Given the description of an element on the screen output the (x, y) to click on. 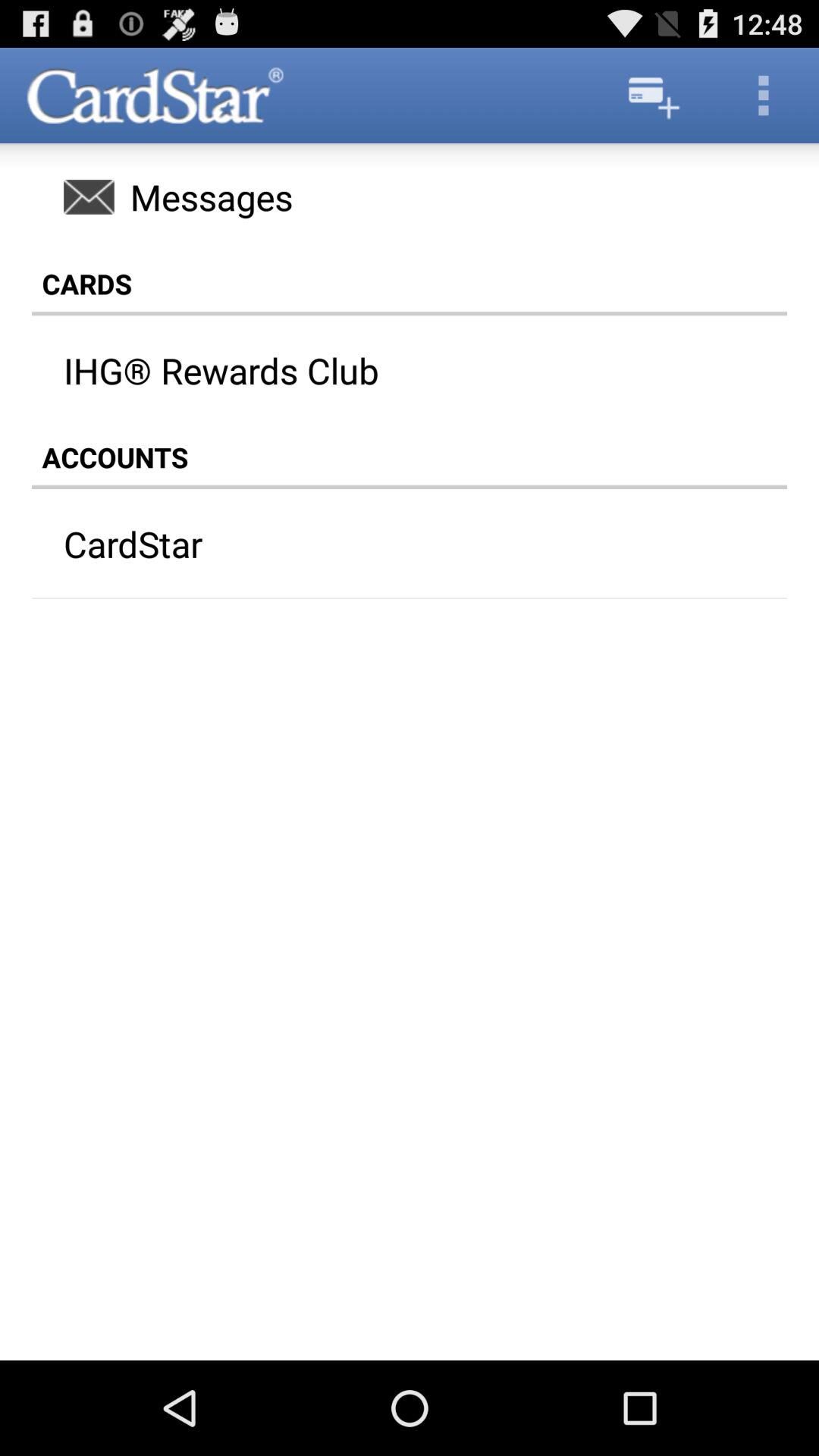
launch messages app (409, 196)
